Given the description of an element on the screen output the (x, y) to click on. 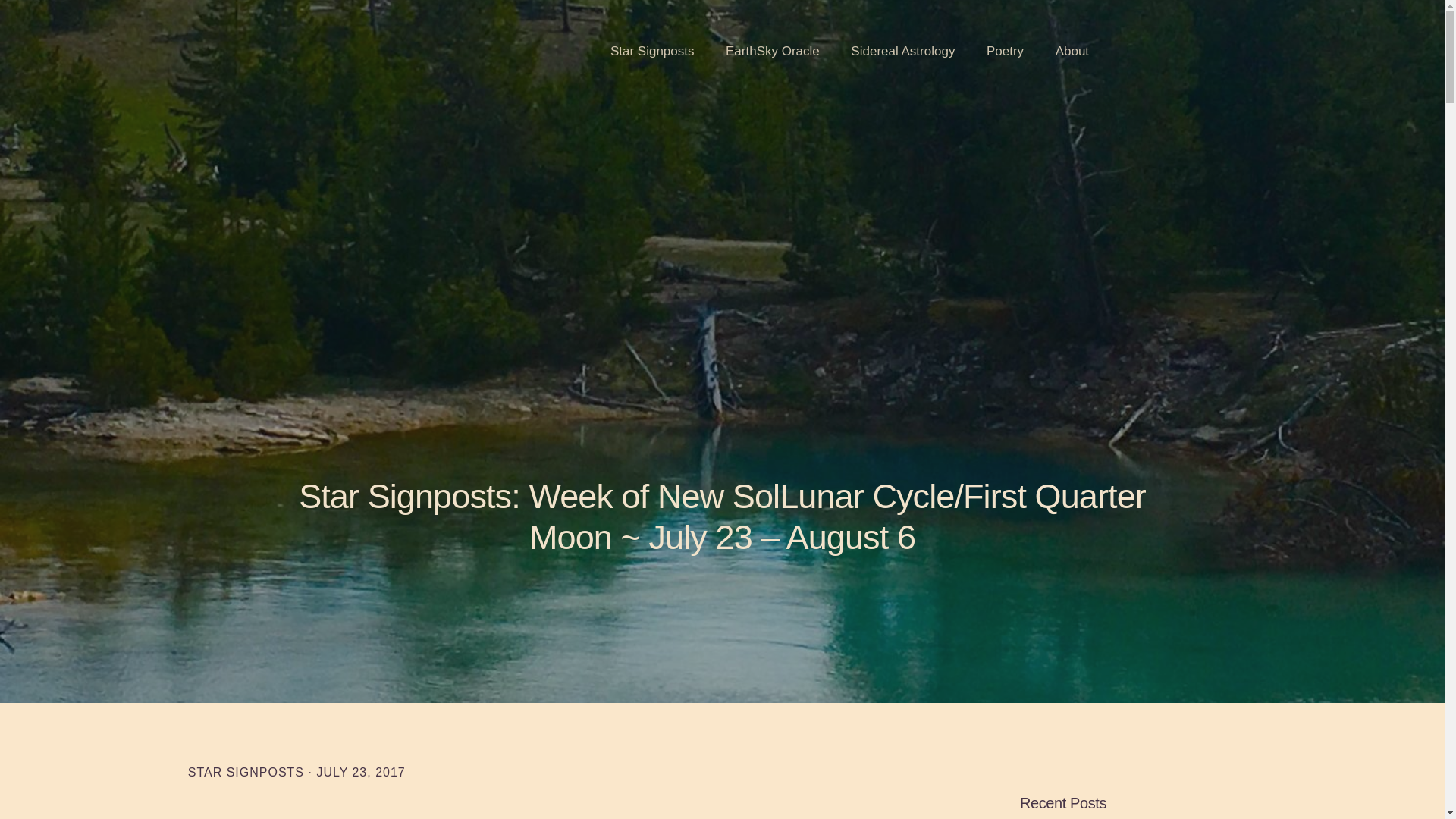
STAR SIGNPOSTS (245, 771)
EarthWord SkyWord by Lyn Dalebout (185, 48)
Star Signposts (652, 51)
Sidereal Astrology (902, 51)
EarthSky Oracle (772, 51)
